Given the description of an element on the screen output the (x, y) to click on. 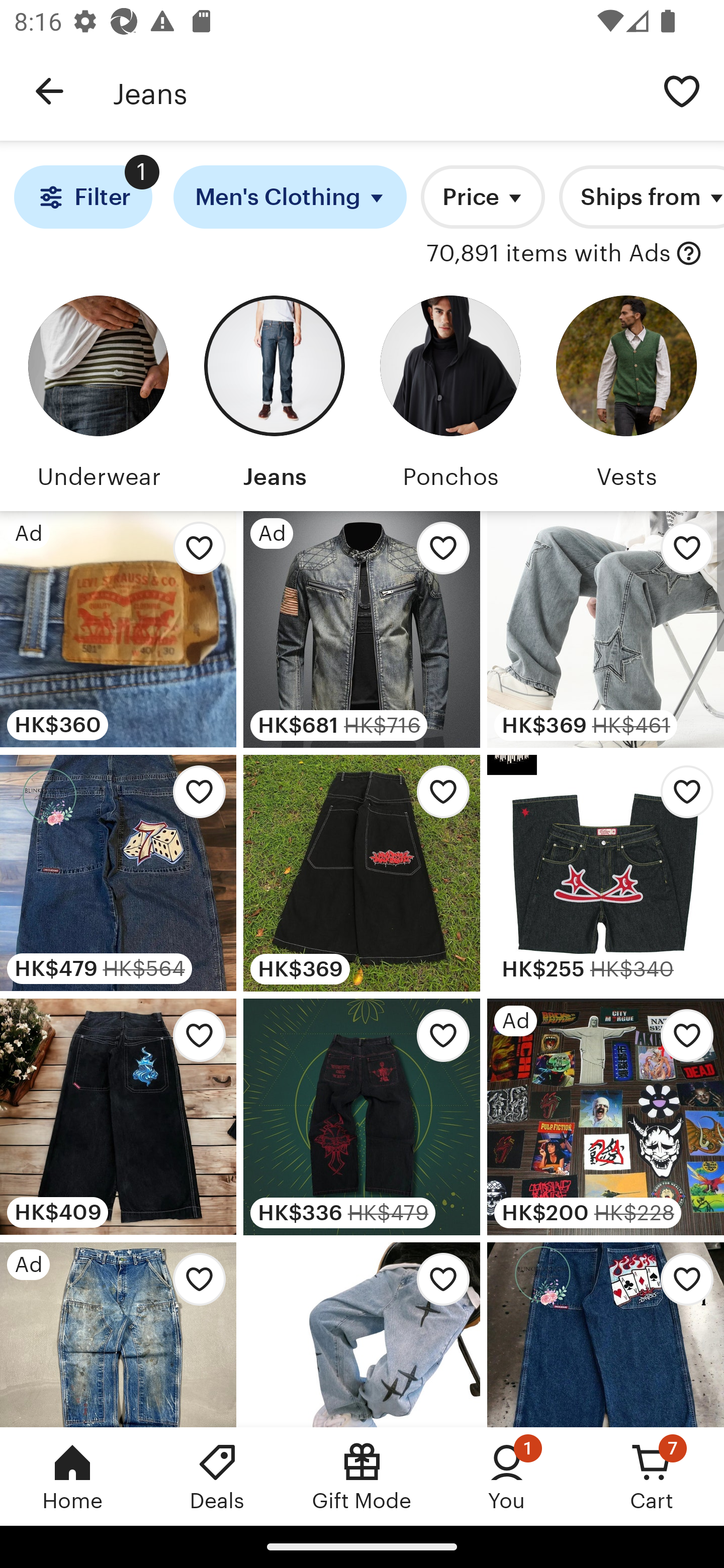
Navigate up (49, 91)
Save search (681, 90)
Jeans (375, 91)
Filter (82, 197)
Men's Clothing (289, 197)
Price (482, 197)
Ships from (641, 197)
70,891 items with Ads (548, 253)
with Ads (688, 253)
Underwear (97, 395)
Jeans (273, 395)
Ponchos (449, 395)
Vests (625, 395)
Add Vintage Levi 501 Men Blue Jeans to favorites (194, 553)
Add Men's casual denim jeans Jacket to favorites (438, 553)
Deals (216, 1475)
Gift Mode (361, 1475)
You, 1 new notification You (506, 1475)
Cart, 7 new notifications Cart (651, 1475)
